Given the description of an element on the screen output the (x, y) to click on. 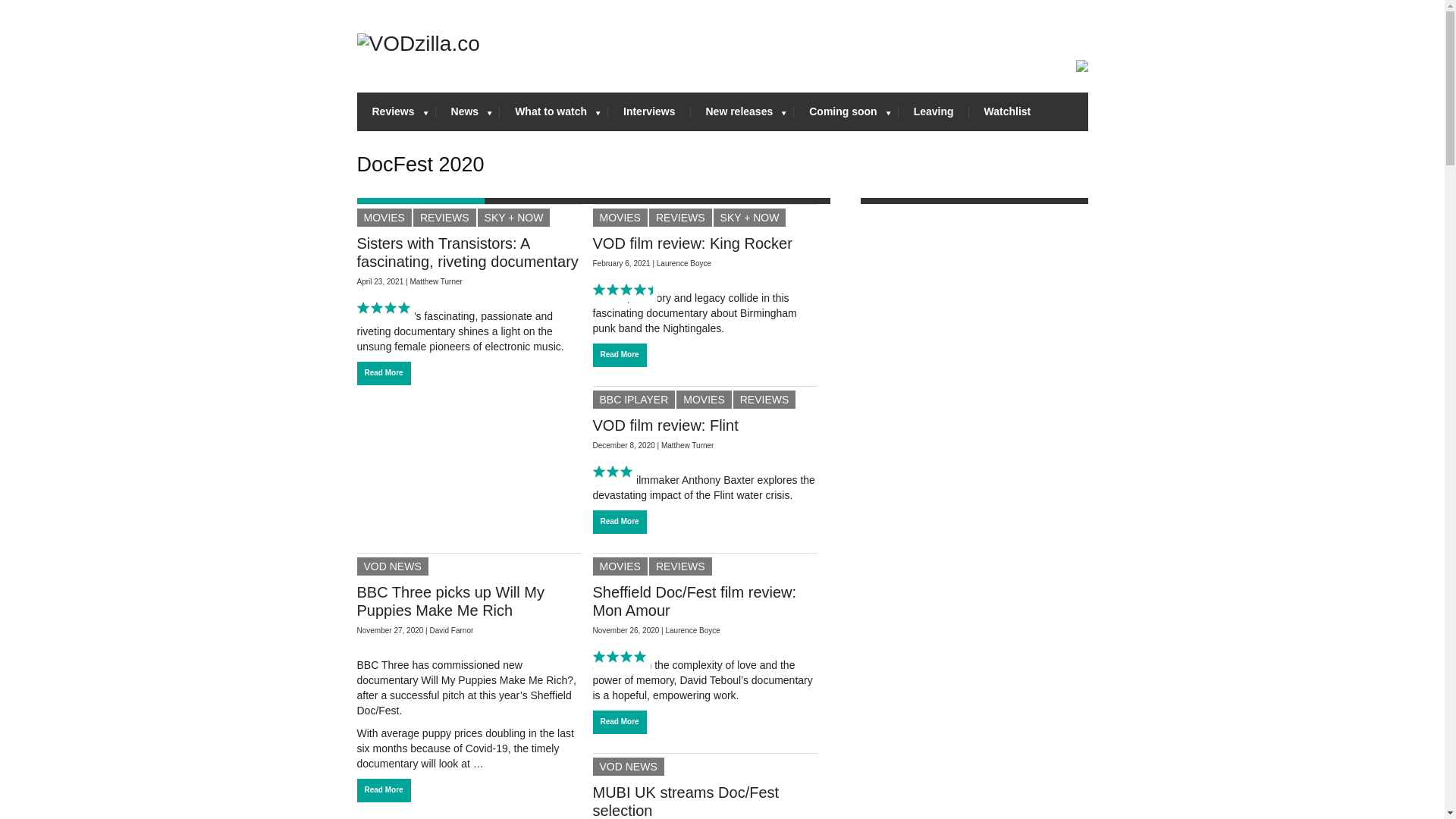
Coming soon (845, 111)
Interviews (649, 111)
New releases (741, 111)
